Given the description of an element on the screen output the (x, y) to click on. 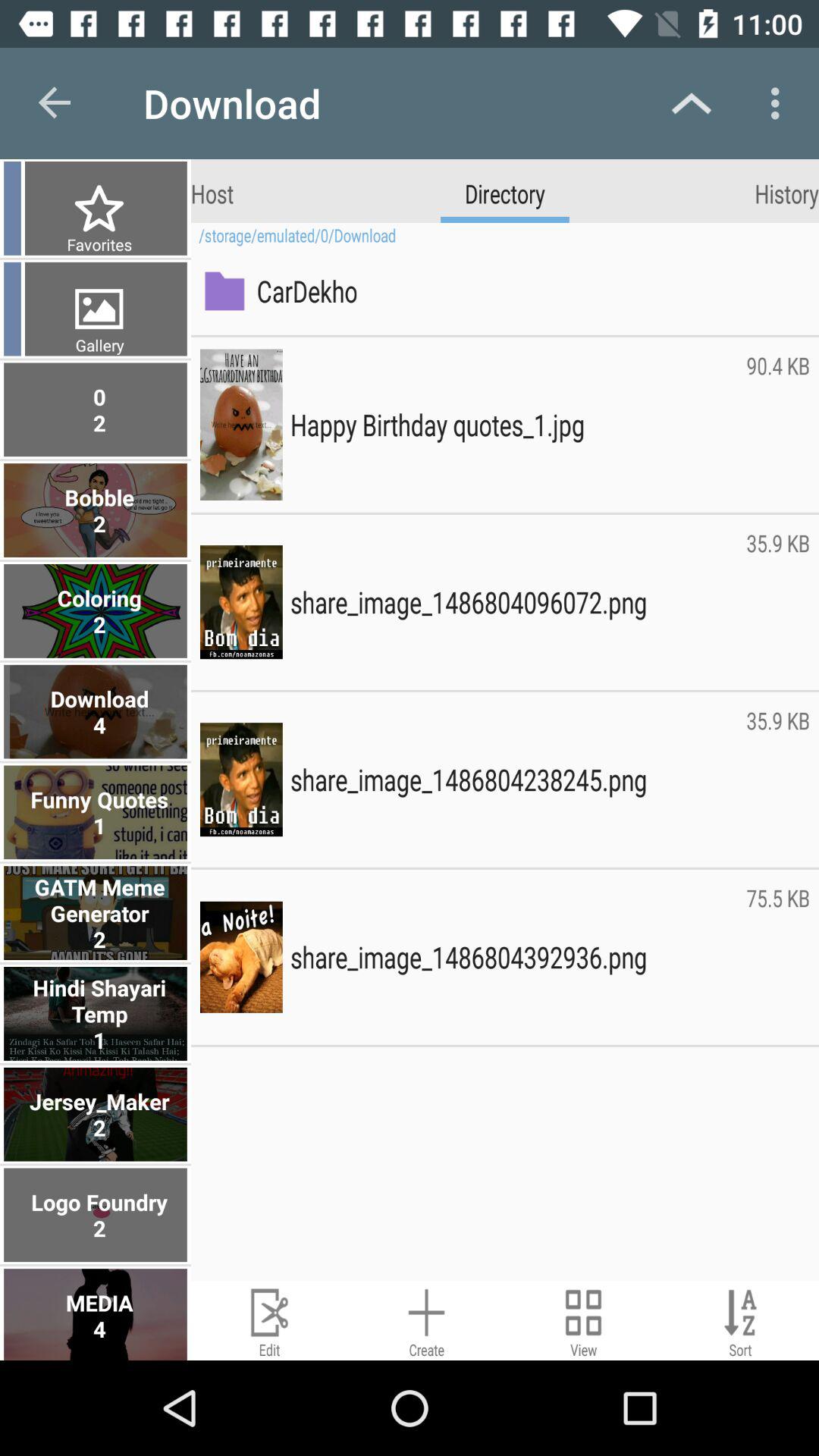
sort alphabetically (740, 1320)
